Given the description of an element on the screen output the (x, y) to click on. 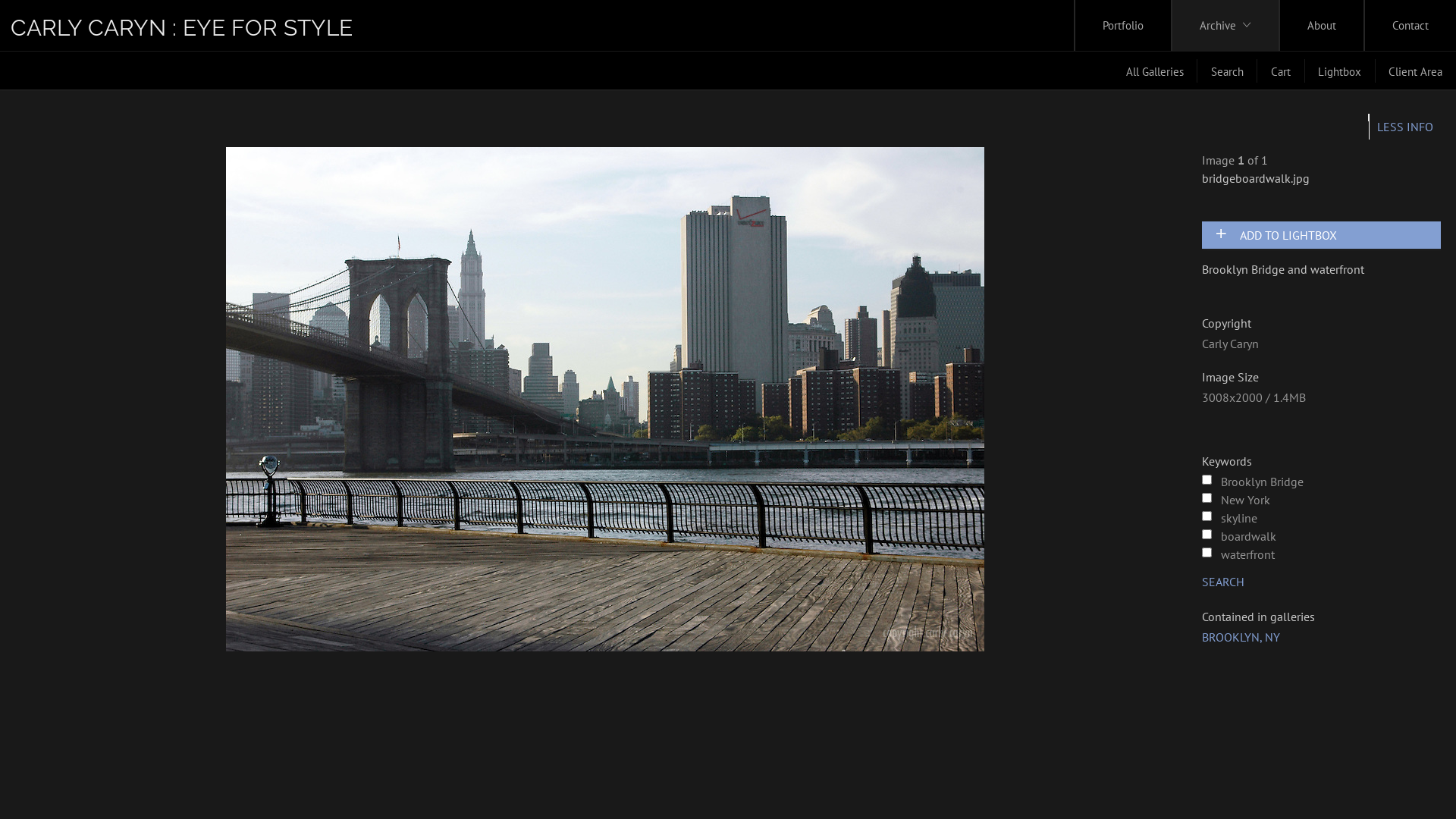
Lightbox Element type: text (1340, 70)
Info Element type: hover (1405, 126)
BROOKLYN, NY Element type: text (1240, 636)
All Galleries Element type: text (1154, 70)
Search Element type: text (1227, 70)
Cart Element type: text (1280, 70)
About Element type: text (1321, 25)
Portfolio Element type: text (1122, 25)
CARLY CARYN : EYE FOR STYLE Element type: text (181, 27)
Search Element type: text (1222, 581)
ADD TO LIGHTBOX Element type: text (1326, 234)
